Given the description of an element on the screen output the (x, y) to click on. 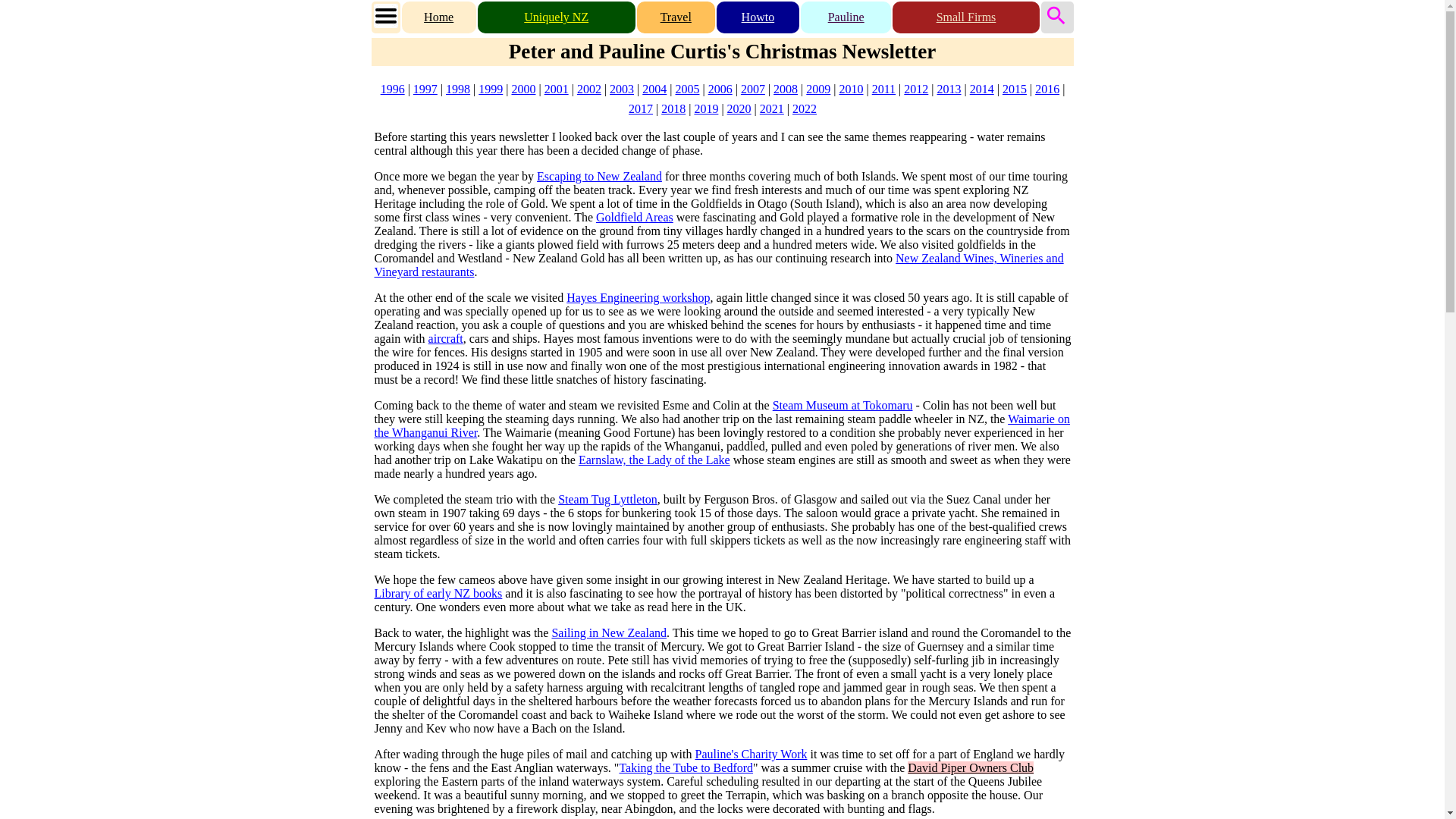
Navigation Menu and Settings (384, 15)
1998 (457, 88)
1999 (490, 88)
2004 (654, 88)
2001 (556, 88)
1997 (425, 88)
2000 (523, 88)
2005 (686, 88)
Home (437, 16)
2002 (588, 88)
